Given the description of an element on the screen output the (x, y) to click on. 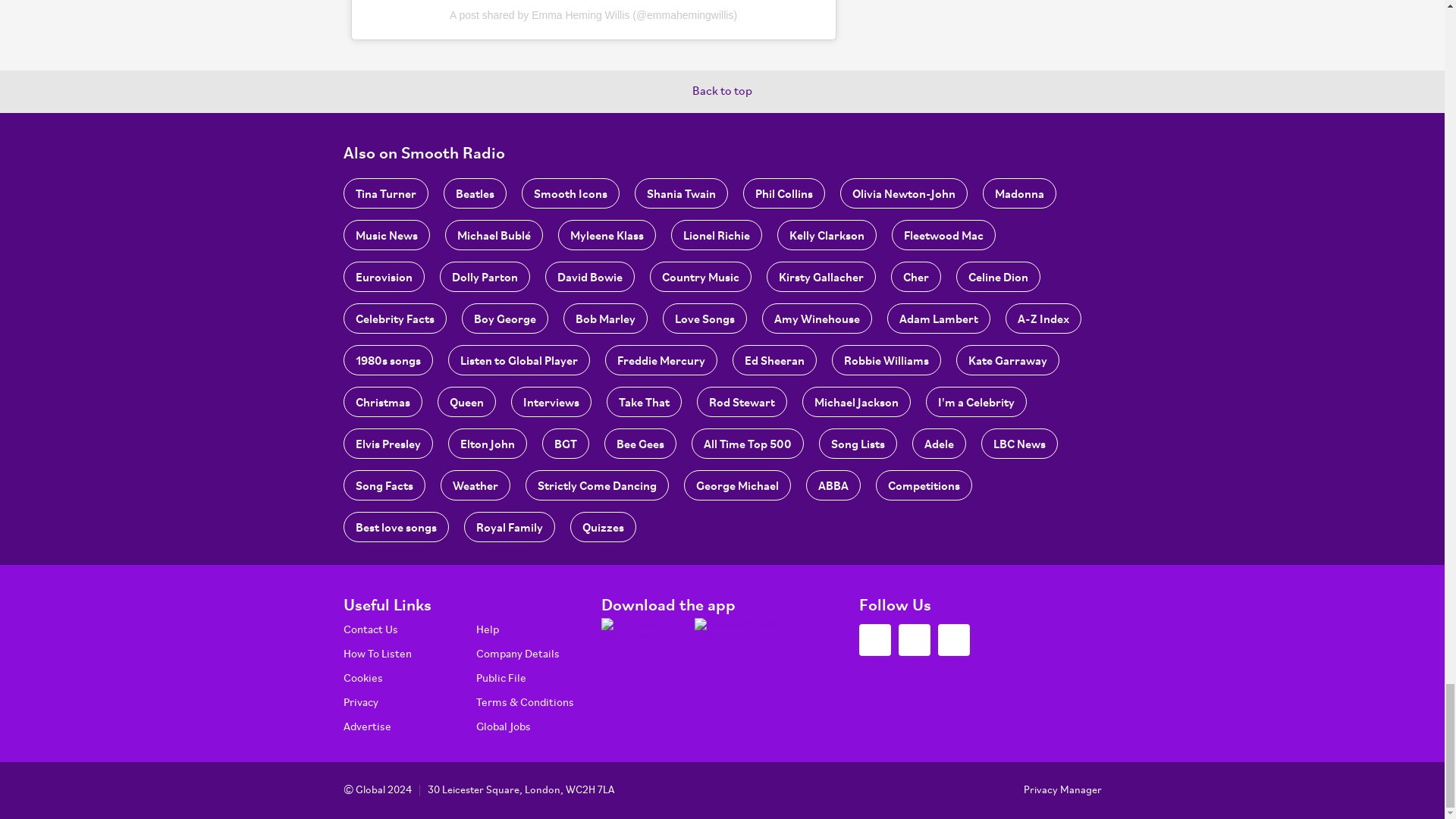
Follow Smooth on Instagram (914, 640)
Back to top (722, 91)
Follow Smooth on Facebook (874, 640)
Follow Smooth on Youtube (953, 640)
